Given the description of an element on the screen output the (x, y) to click on. 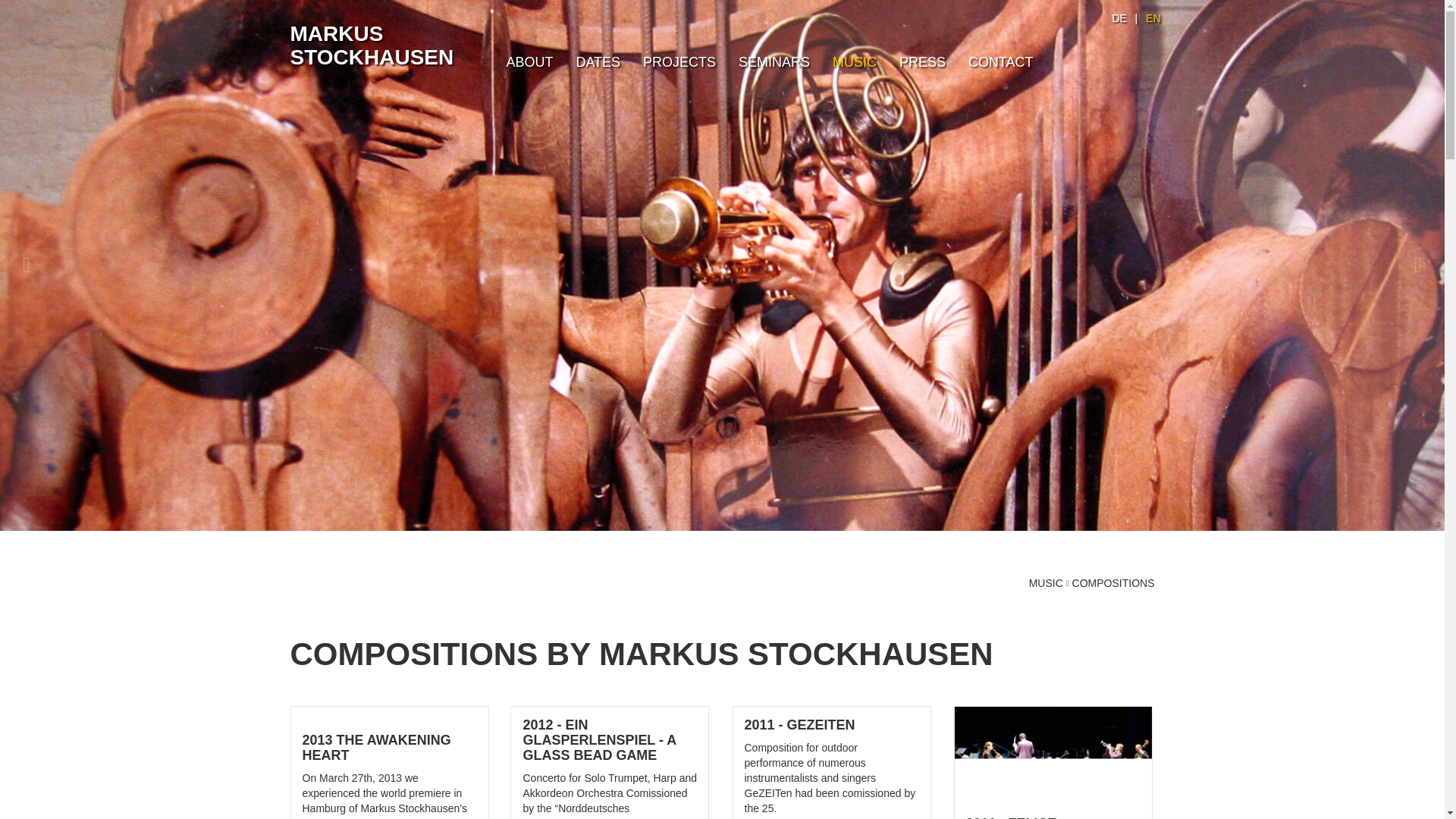
ABOUT (529, 61)
MARKUS STOCKHAUSEN (370, 45)
To home of www.markusstockhausen.de (370, 45)
DATES (597, 61)
SEMINARS (773, 61)
PROJECTS (678, 61)
DE (1118, 18)
